Given the description of an element on the screen output the (x, y) to click on. 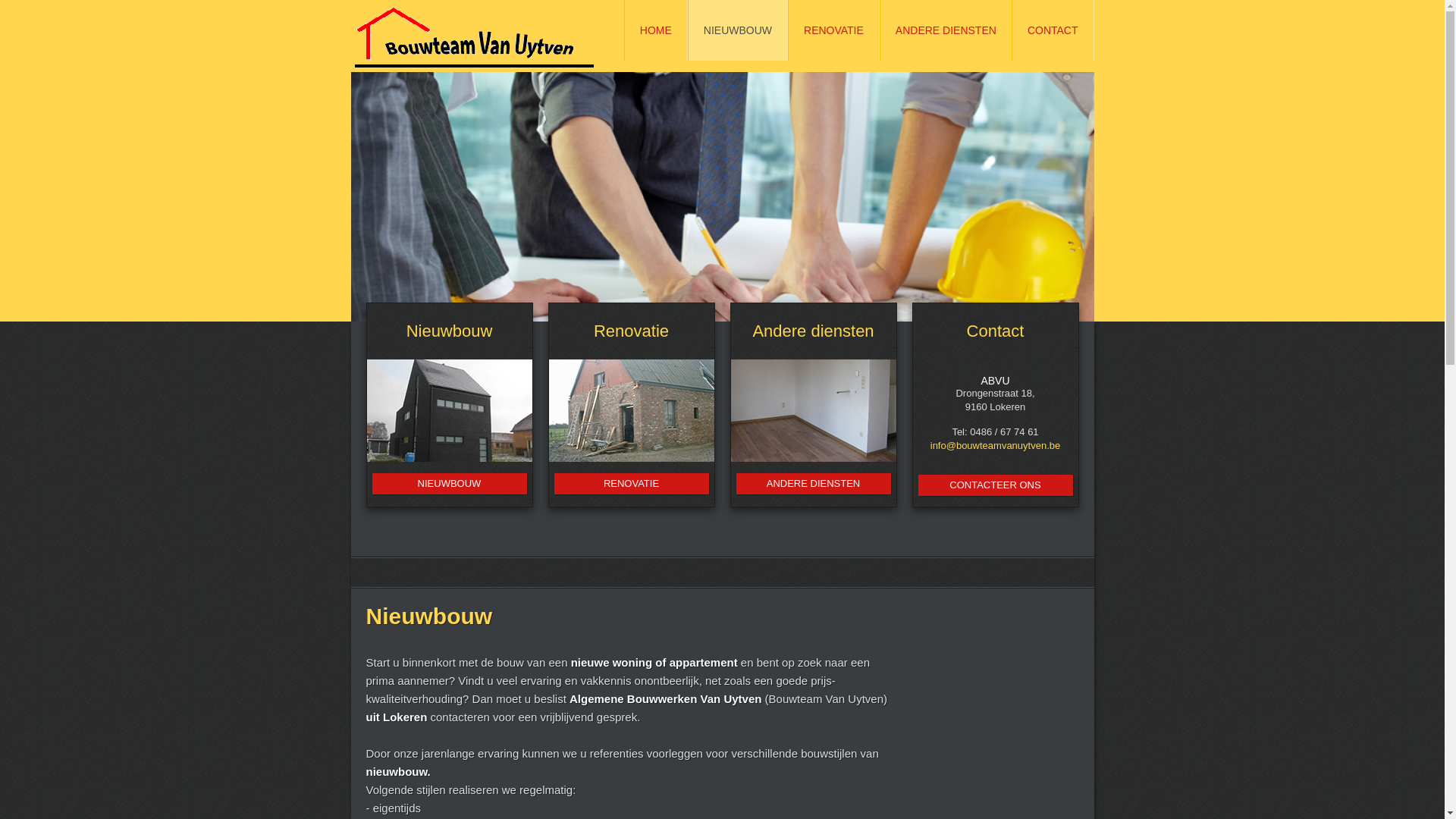
ANDERE DIENSTEN Element type: text (945, 30)
CONTACT Element type: text (1052, 30)
ANDERE DIENSTEN Element type: text (812, 483)
CONTACTEER ONS Element type: text (994, 484)
RENOVATIE Element type: text (833, 30)
Andere diensten Element type: text (812, 330)
RENOVATIE Element type: text (630, 483)
Contact Element type: text (995, 330)
HOME Element type: text (655, 30)
info@bouwteamvanuytven.be Element type: text (995, 445)
NIEUWBOUW Element type: text (448, 483)
Nieuwbouw Element type: text (449, 330)
NIEUWBOUW Element type: text (737, 30)
Renovatie Element type: text (630, 330)
